Given the description of an element on the screen output the (x, y) to click on. 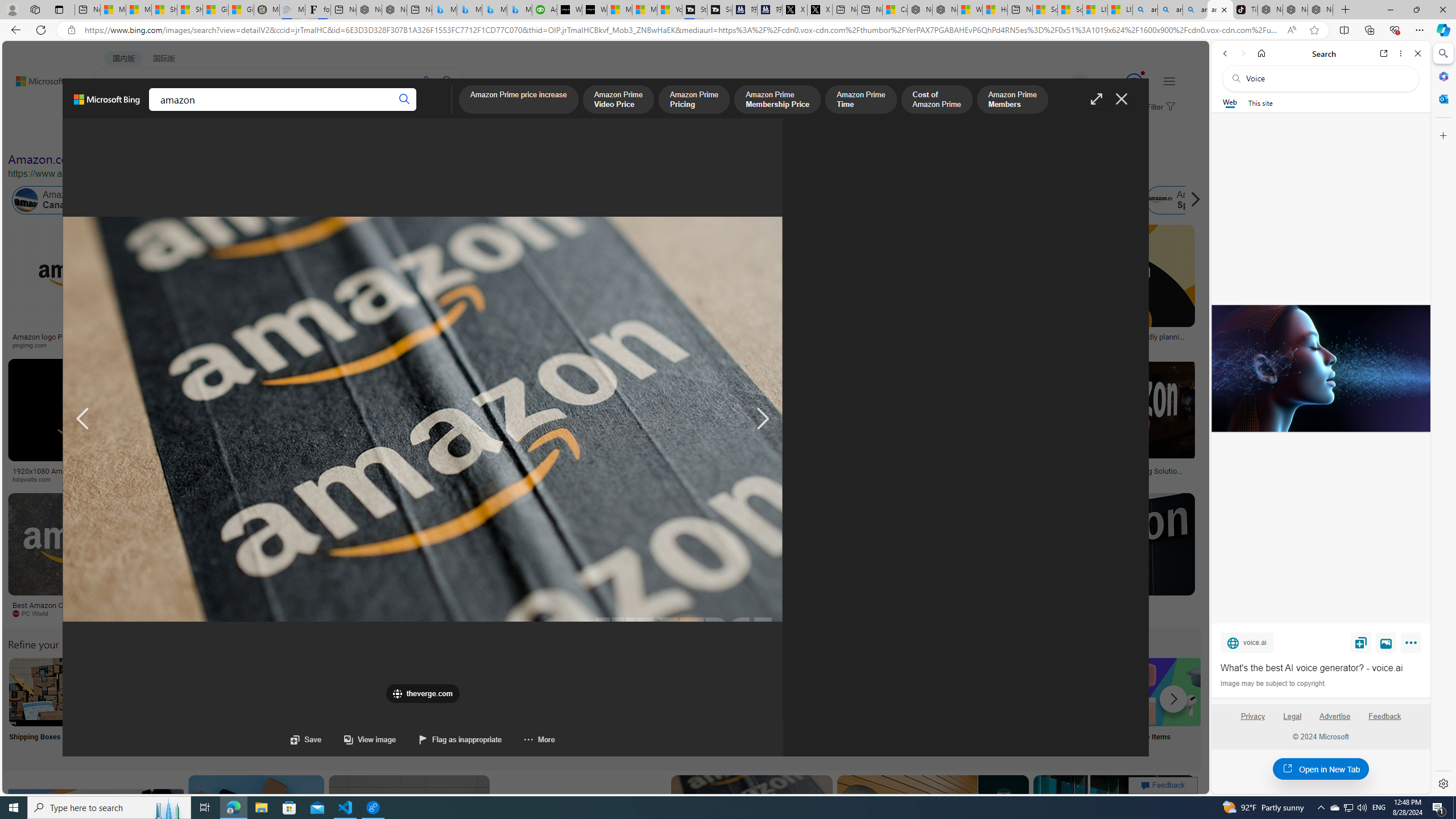
vecteezy.com (938, 479)
Package Delivery (418, 706)
Dropdown Menu (443, 111)
Gilma and Hector both pose tropical trouble for Hawaii (241, 9)
Class: medal-circled (1133, 81)
Amazon Prime Pricing (694, 100)
MAPS (397, 111)
